Given the description of an element on the screen output the (x, y) to click on. 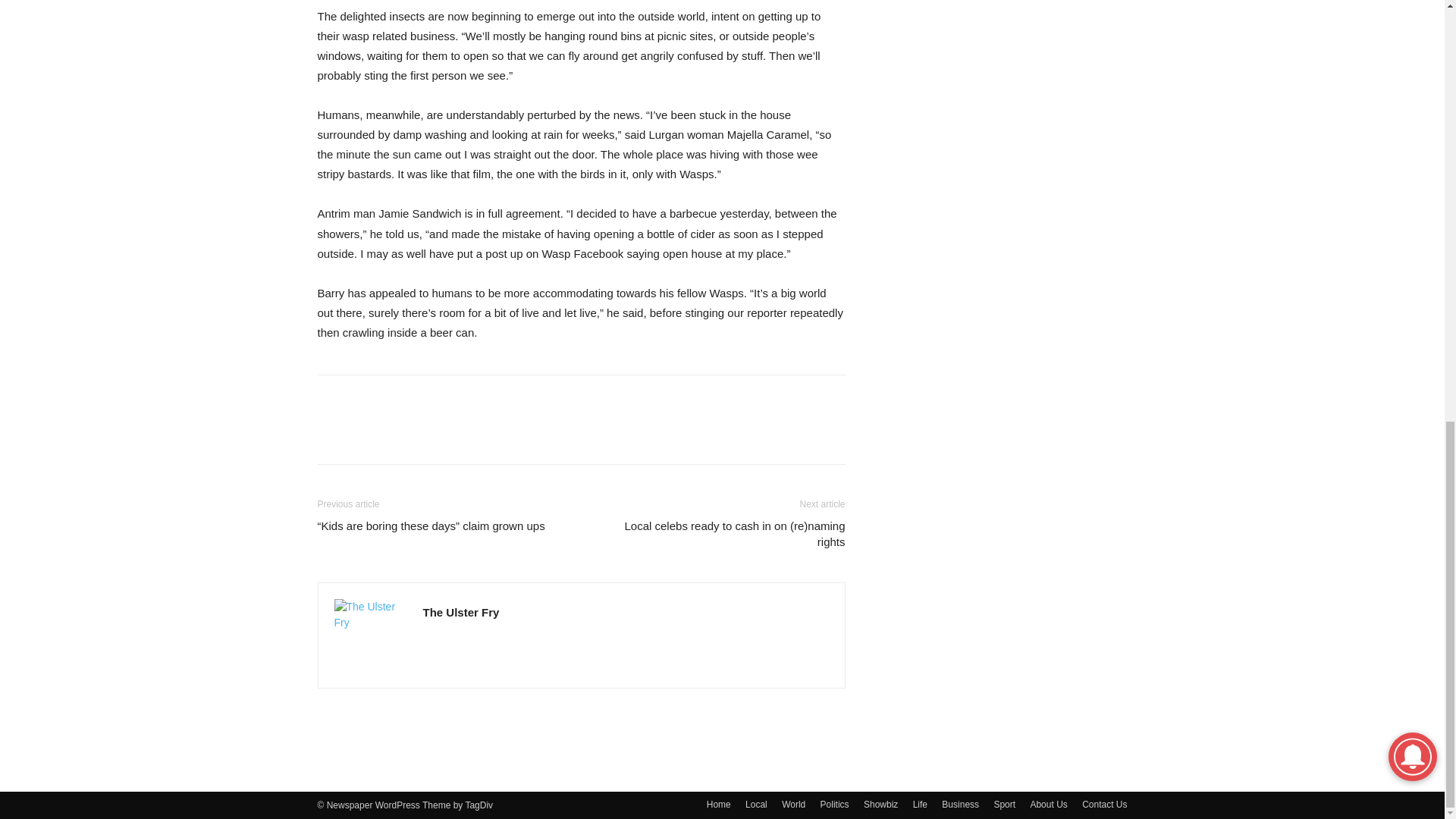
About Us (1048, 804)
Contact Us (1103, 804)
Sport (1003, 804)
Home (718, 804)
Life (919, 804)
Showbiz (880, 804)
bottomFacebookLike (430, 399)
World (793, 804)
The Ulster Fry (461, 612)
Business (960, 804)
